Given the description of an element on the screen output the (x, y) to click on. 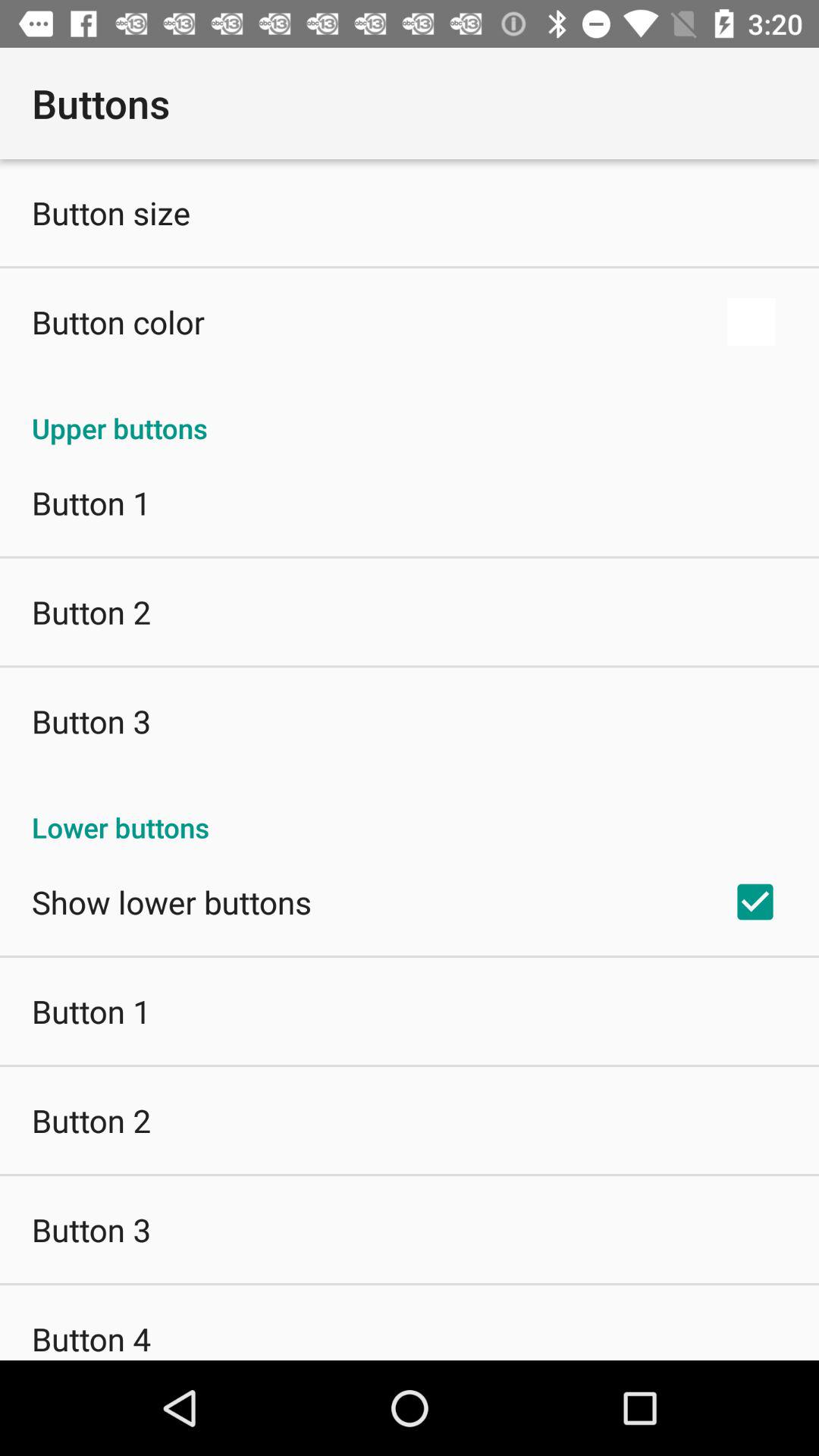
press icon below the button 3 item (90, 1338)
